Given the description of an element on the screen output the (x, y) to click on. 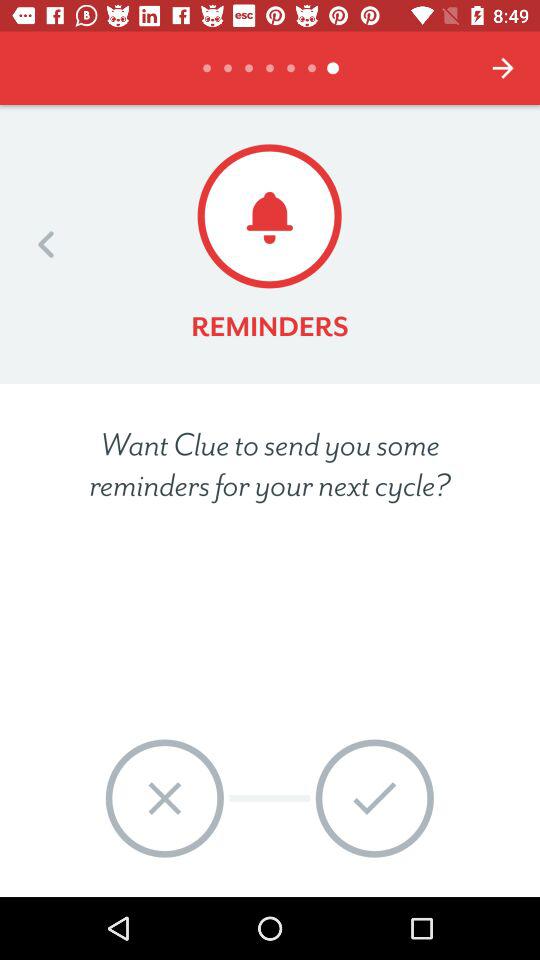
launch the icon above the want clue to (46, 244)
